Given the description of an element on the screen output the (x, y) to click on. 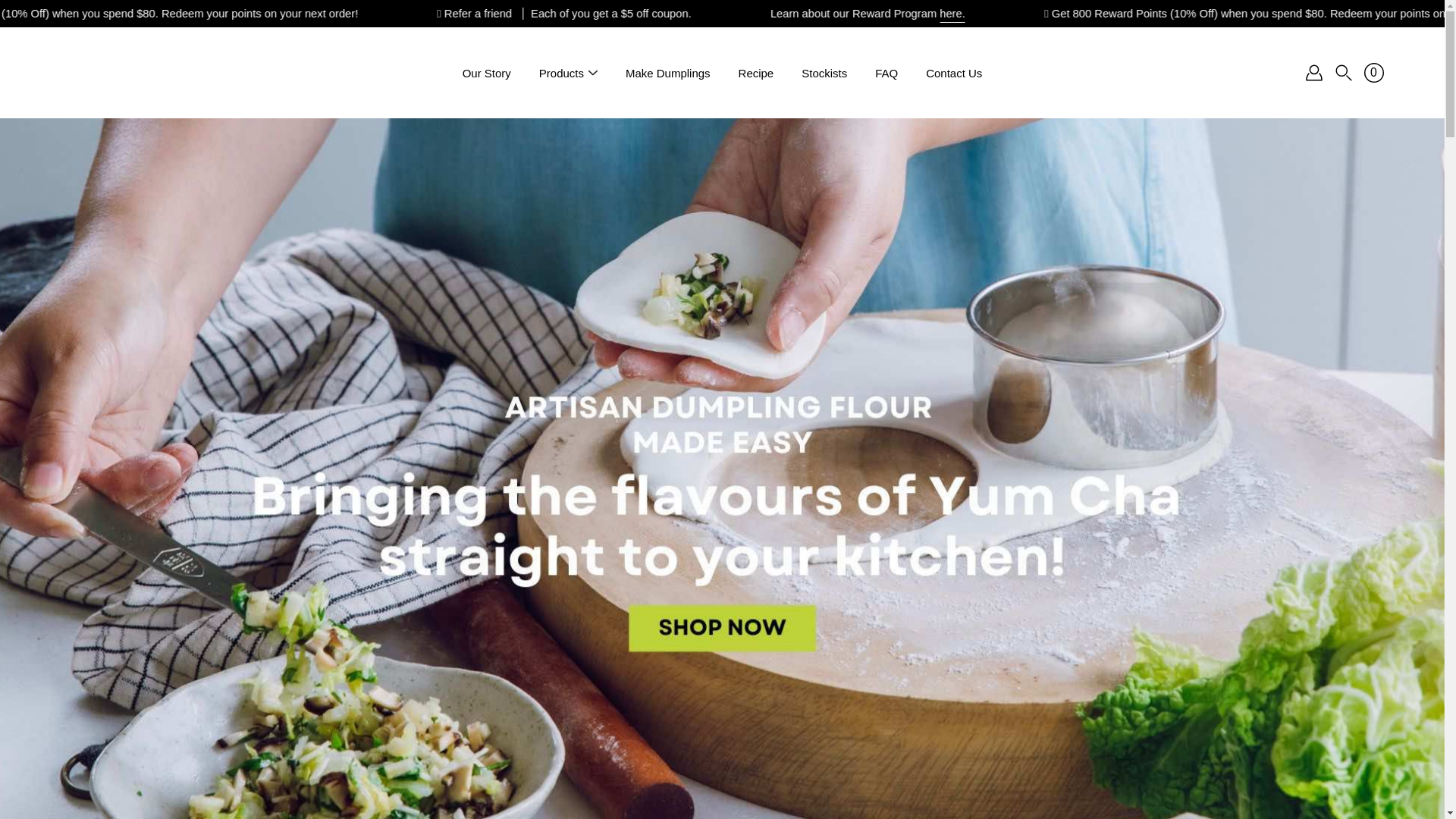
Online Reward Program (1081, 13)
Products (560, 72)
Our Story (487, 72)
here. (1144, 13)
